Given the description of an element on the screen output the (x, y) to click on. 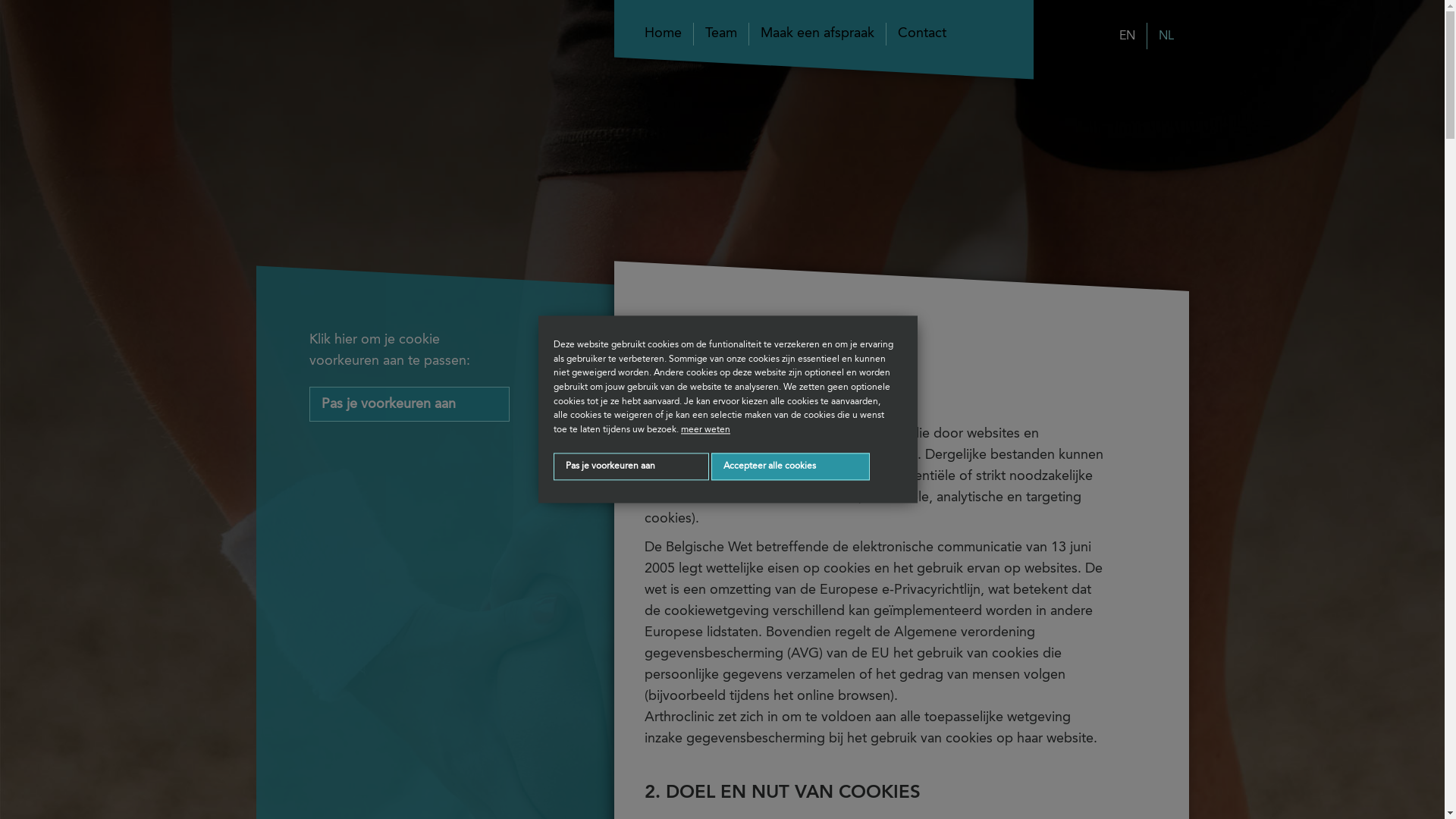
Team Element type: text (720, 33)
  Element type: text (438, 139)
Accepteer alle cookies Element type: text (790, 466)
meer weten Element type: text (705, 429)
Home Element type: text (668, 33)
EN Element type: text (1126, 35)
NL Element type: text (1159, 35)
Maak een afspraak Element type: text (816, 33)
Pas je voorkeuren aan Element type: text (631, 466)
Contact Element type: text (921, 33)
